Given the description of an element on the screen output the (x, y) to click on. 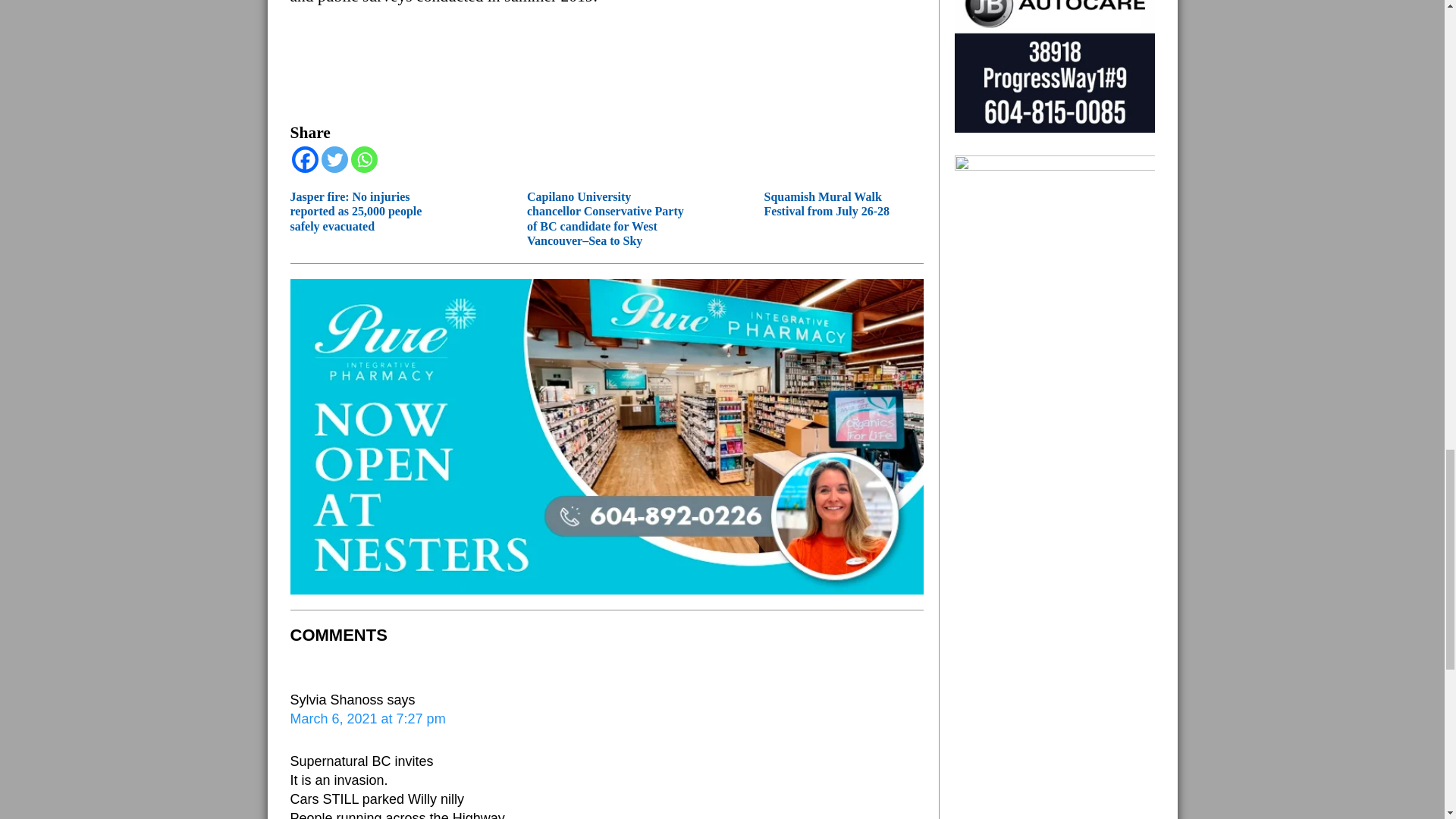
Twitter (334, 159)
Facebook (304, 159)
Whatsapp (363, 159)
March 6, 2021 at 7:27 pm (367, 718)
